Given the description of an element on the screen output the (x, y) to click on. 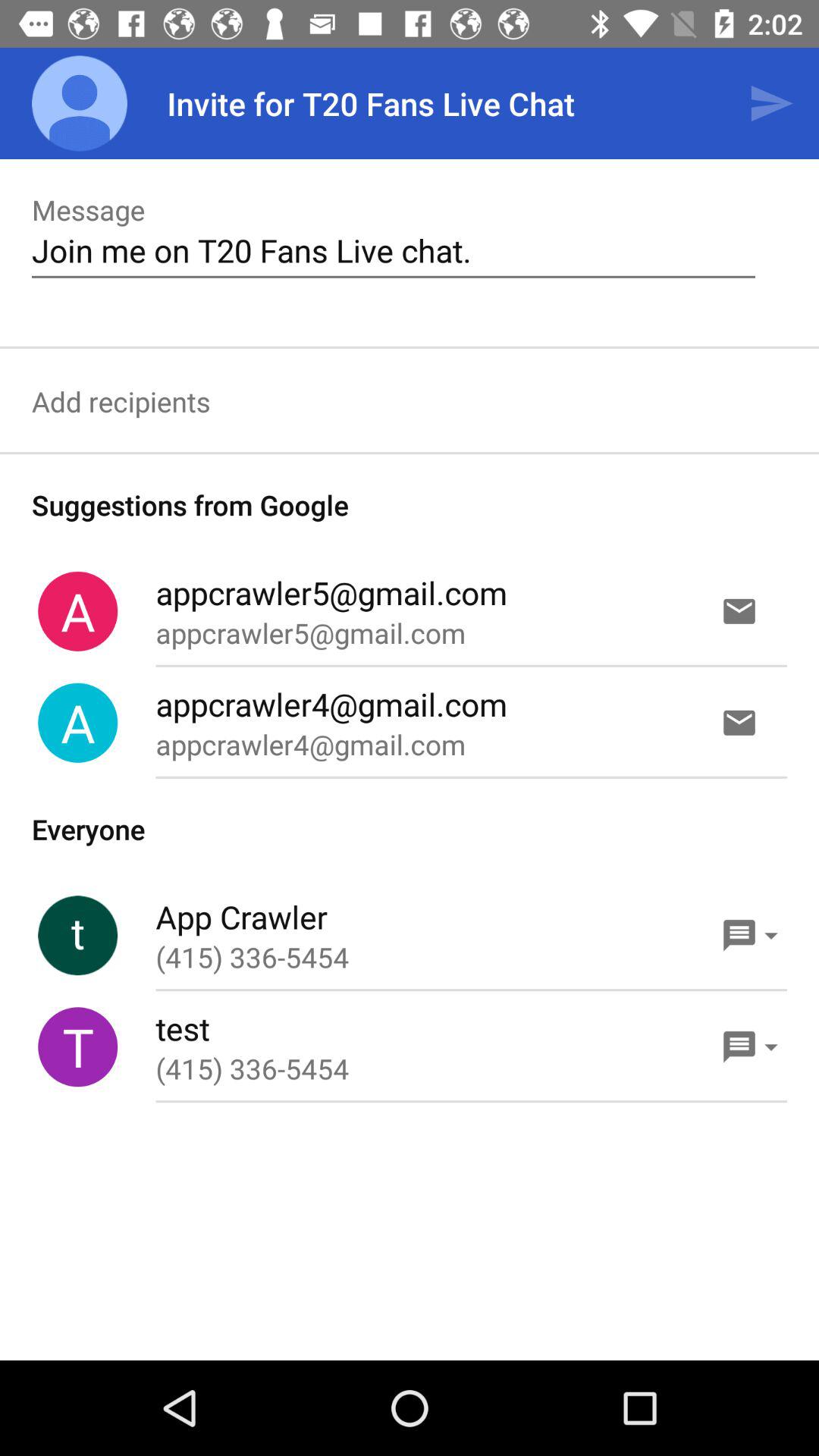
click the app next to invite for t20 (79, 103)
